Given the description of an element on the screen output the (x, y) to click on. 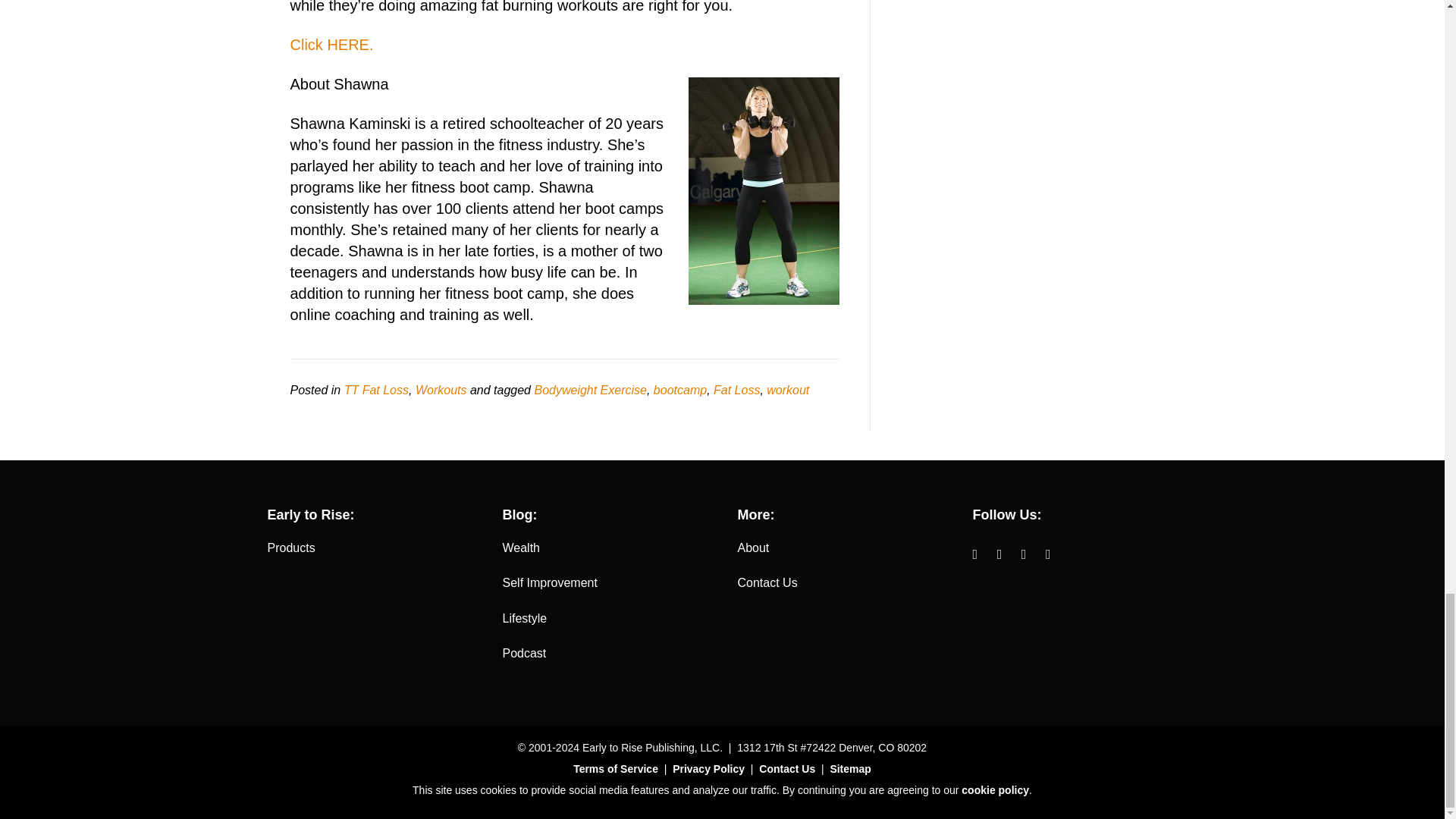
Workouts (440, 390)
Terms of Service (615, 768)
Products (290, 547)
Contact Us (766, 582)
TT Fat Loss (376, 390)
Lifestyle (524, 617)
Self Improvement (549, 582)
Wealth (521, 547)
Privacy Policy (708, 768)
workout (788, 390)
